Given the description of an element on the screen output the (x, y) to click on. 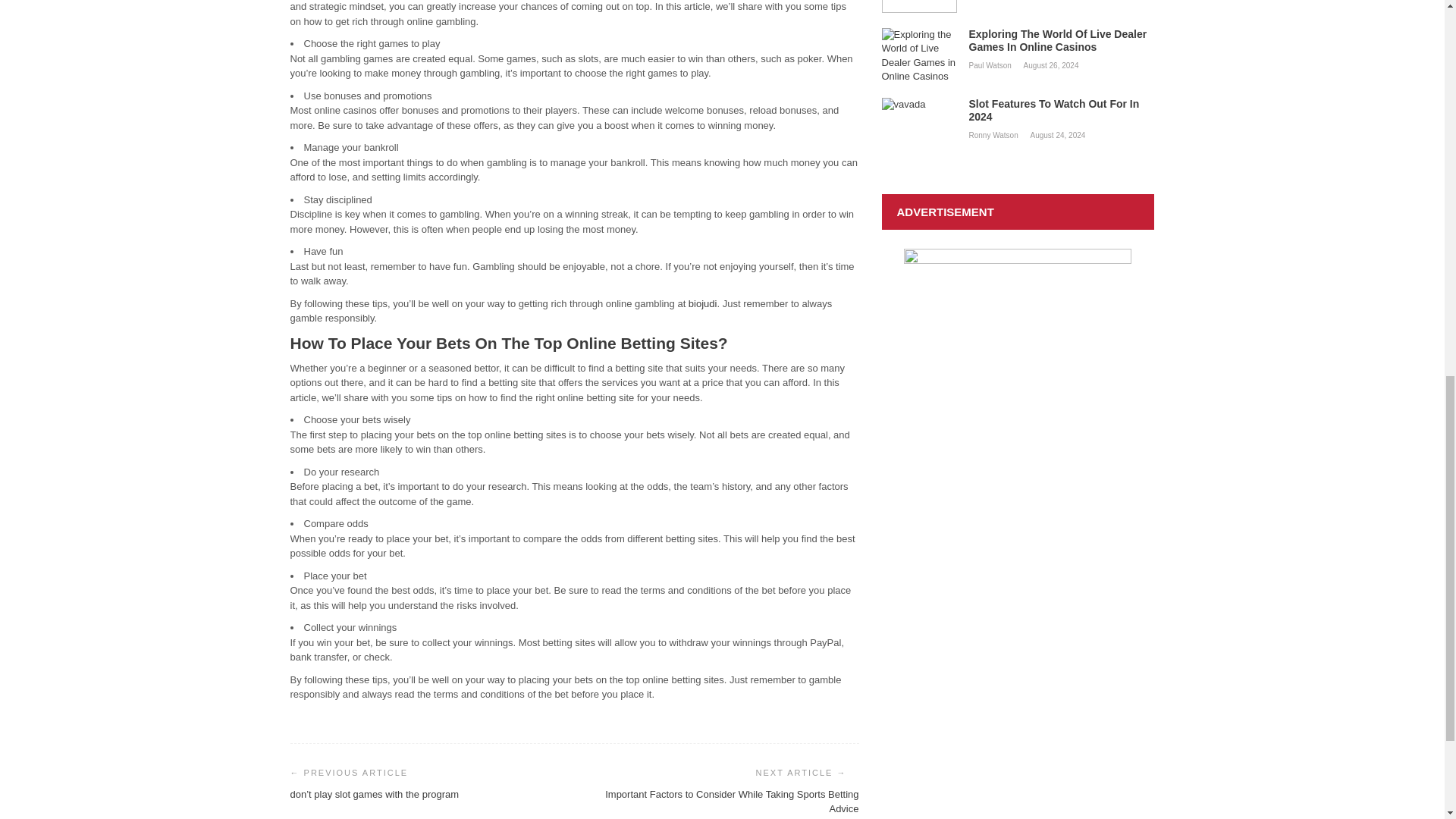
Exploring The World Of Live Dealer Games In Online Casinos (1017, 40)
Paul Watson (991, 64)
Slot Features To Watch Out For In 2024 (1017, 110)
biojudi (702, 302)
